Given the description of an element on the screen output the (x, y) to click on. 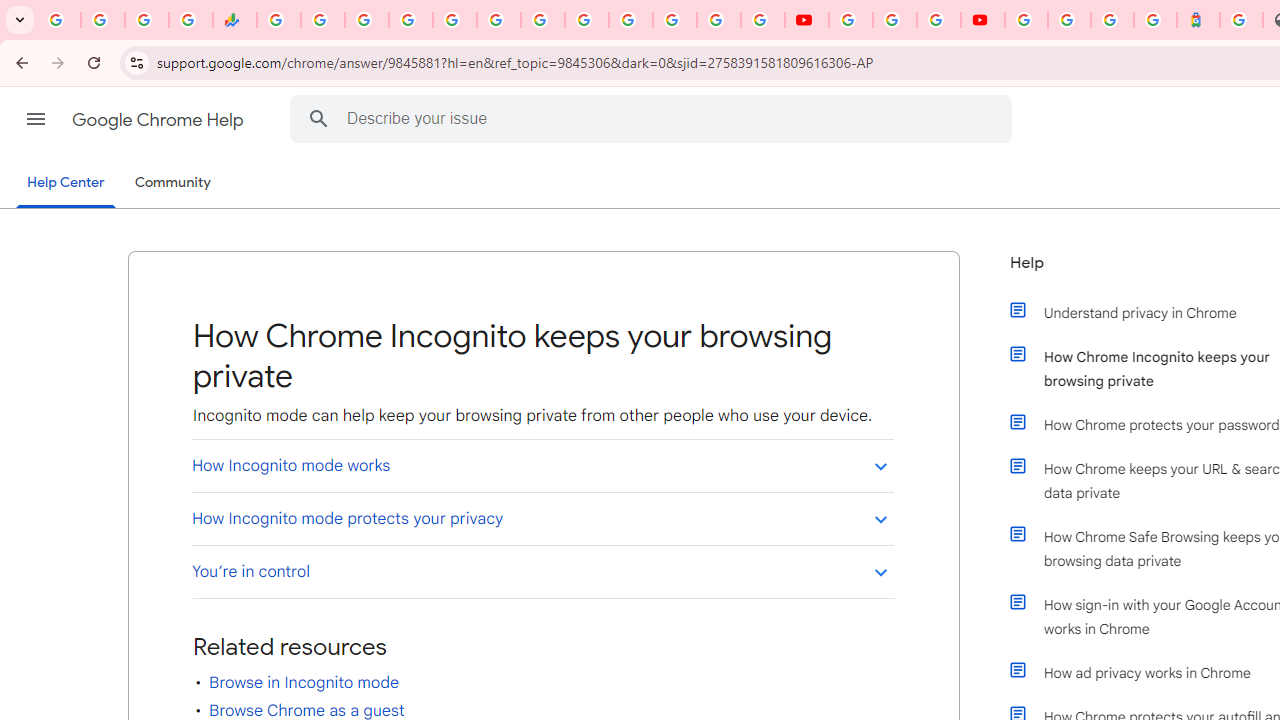
Sign in - Google Accounts (1026, 20)
Sign in - Google Accounts (630, 20)
Privacy Checkup (762, 20)
Content Creator Programs & Opportunities - YouTube Creators (982, 20)
Describe your issue (653, 118)
Main menu (35, 119)
